Given the description of an element on the screen output the (x, y) to click on. 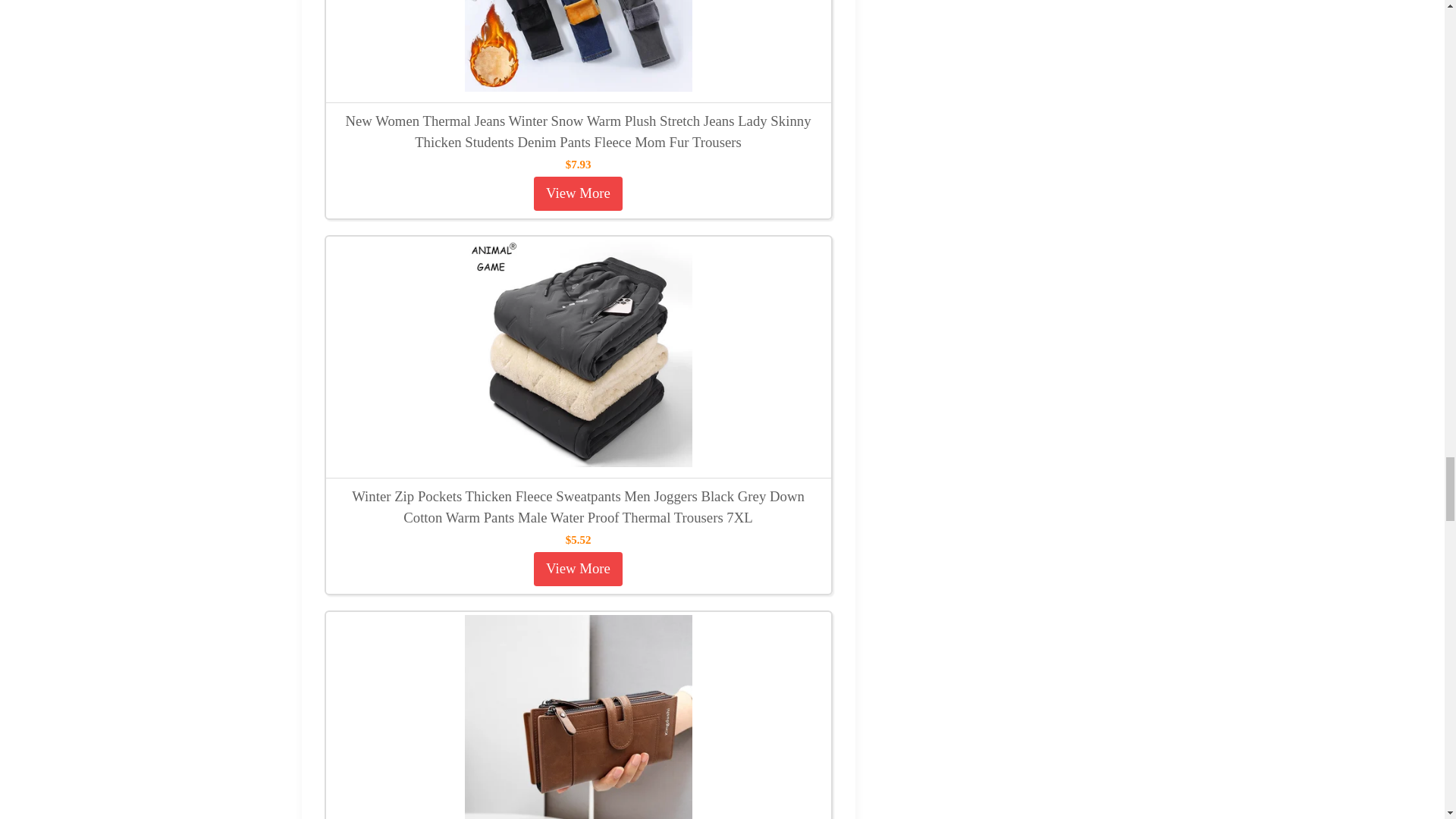
View More (578, 569)
View More (578, 193)
